Given the description of an element on the screen output the (x, y) to click on. 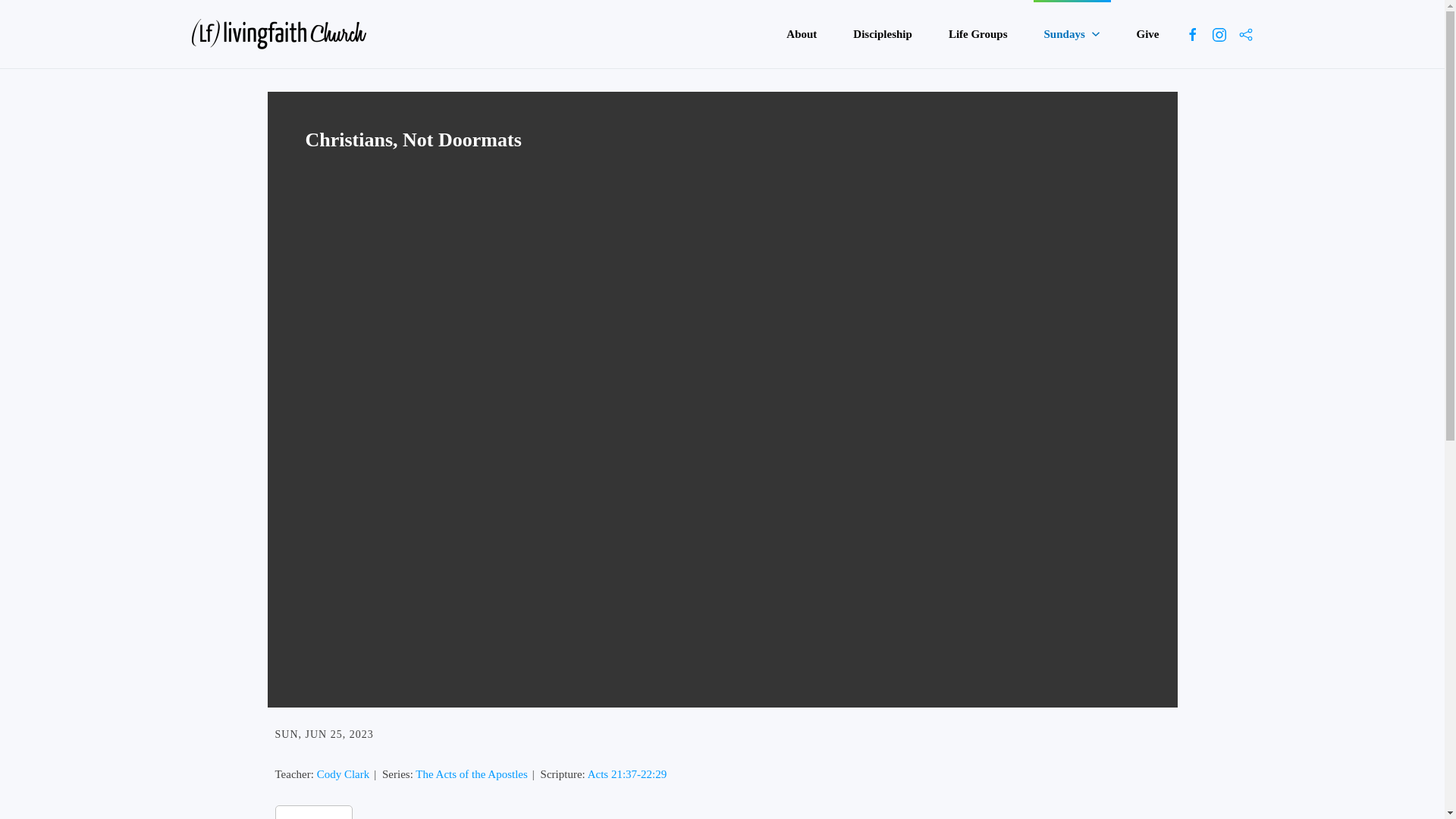
Life Groups (977, 33)
Cody Clark (343, 774)
Discipleship (883, 33)
Acts 21:37-22:29 (627, 774)
Sundays (1071, 33)
The Acts of the Apostles (470, 774)
